Given the description of an element on the screen output the (x, y) to click on. 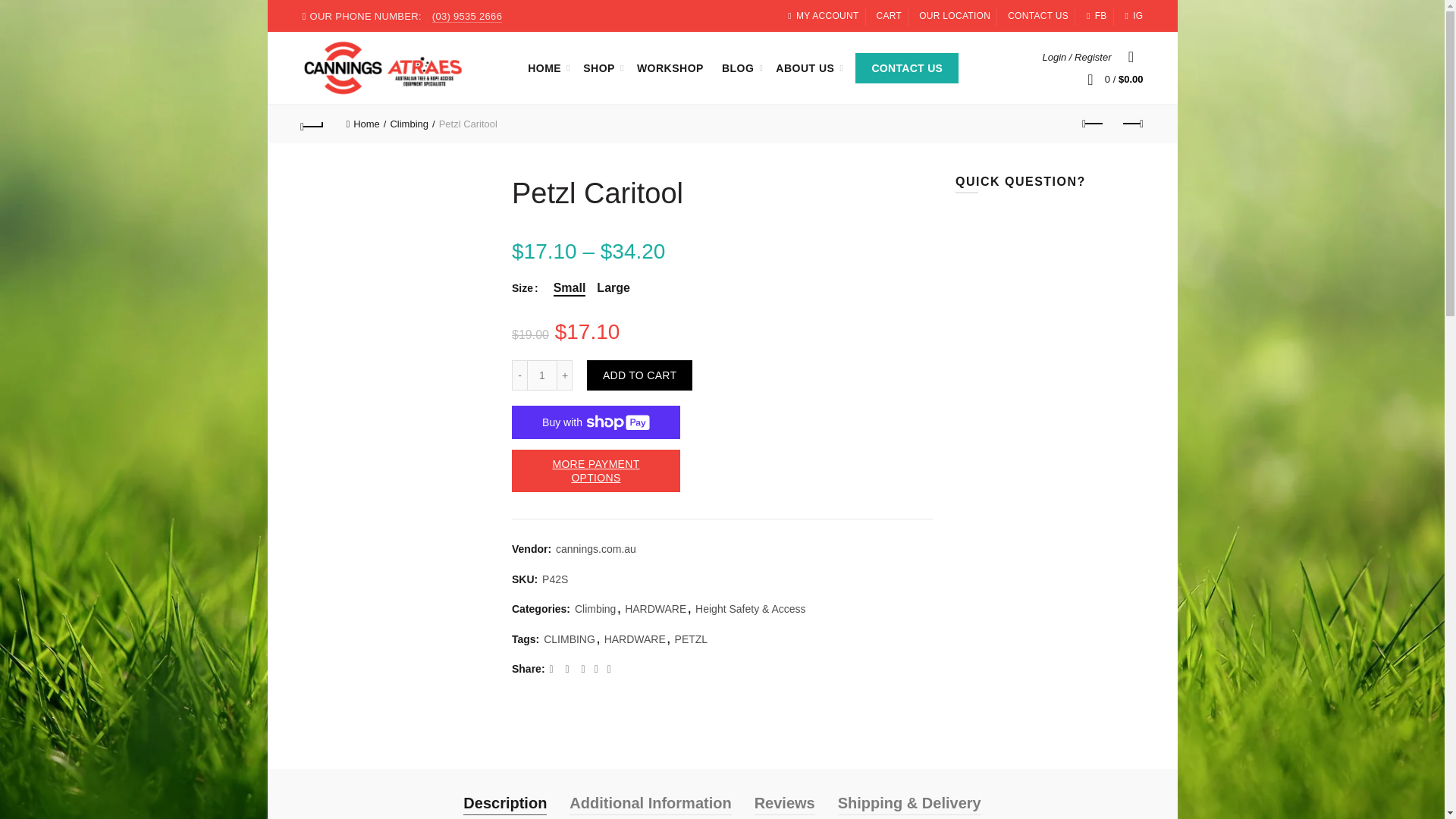
IG (1133, 15)
HOME (544, 67)
SHOP (598, 67)
CONTACT US (1037, 15)
Qty (542, 375)
CART (889, 15)
1 (542, 375)
cannings.com.au (596, 549)
HOME (544, 67)
FB (1096, 15)
OUR LOCATION (954, 15)
MY ACCOUNT (823, 15)
